Given the description of an element on the screen output the (x, y) to click on. 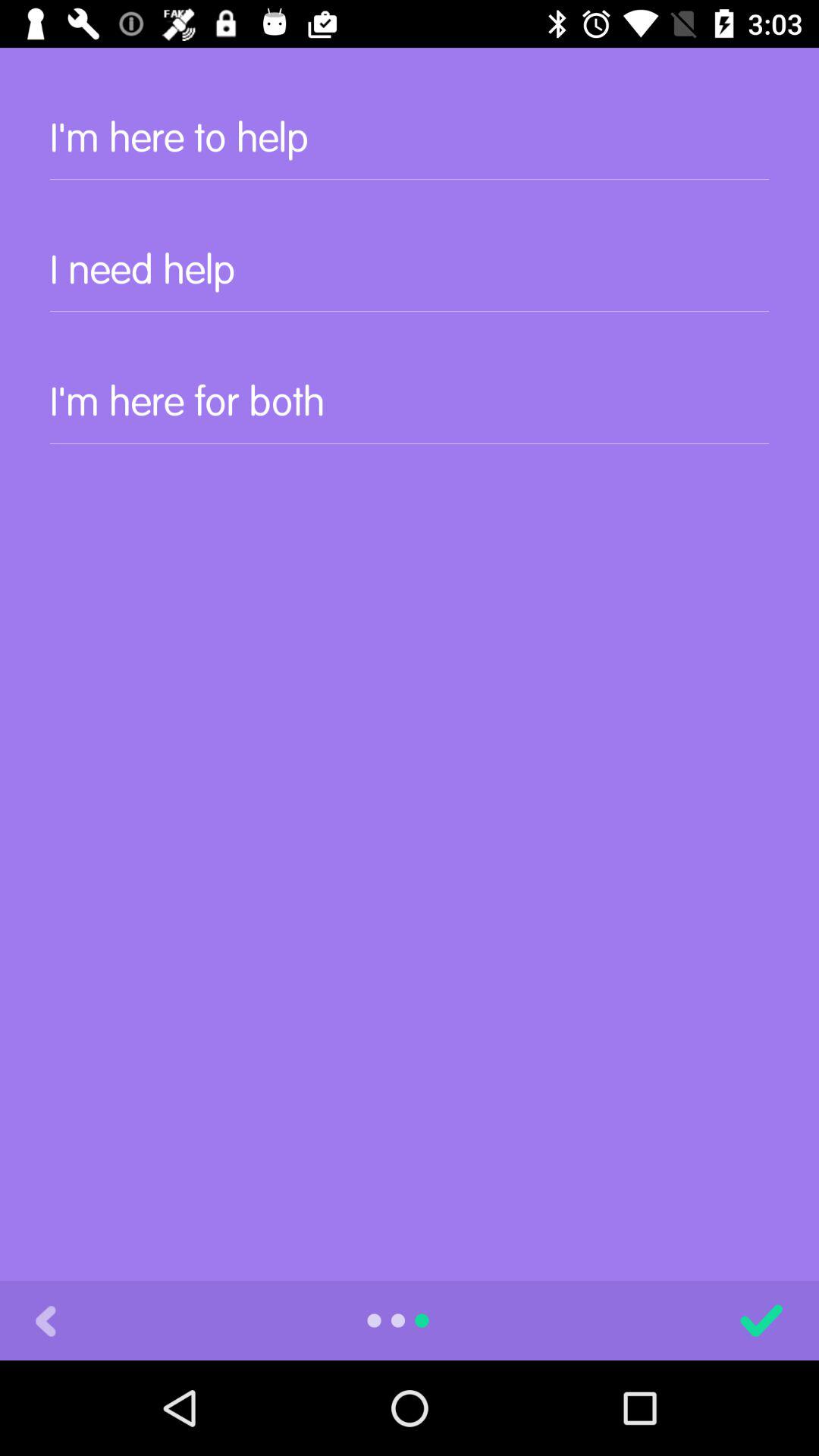
select the icon at the bottom left corner (45, 1320)
